Given the description of an element on the screen output the (x, y) to click on. 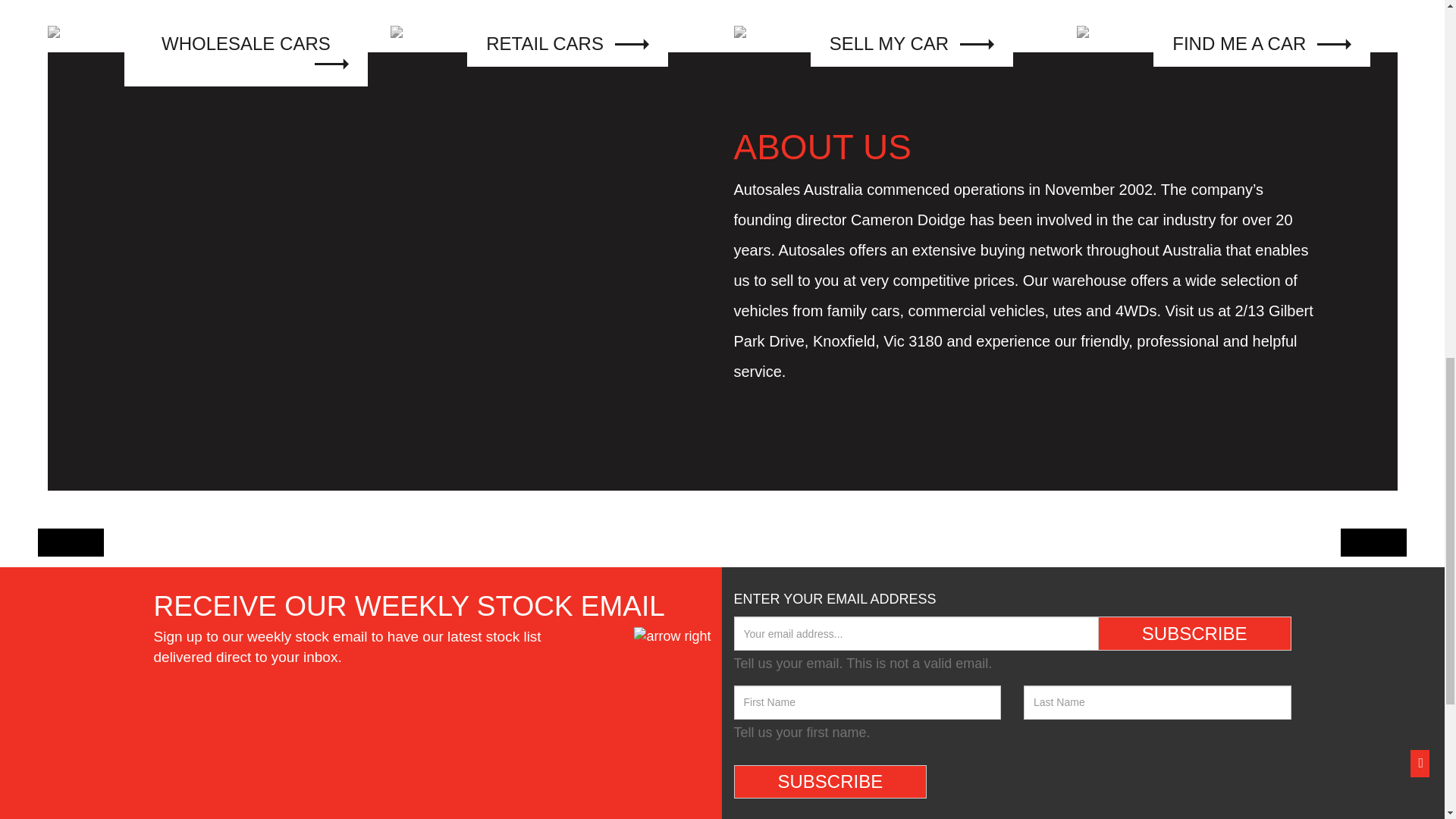
SUBSCRIBE (1194, 633)
RETAIL CARS (550, 35)
WHOLESALE CARS (207, 35)
FIND ME A CAR (1237, 35)
SUBSCRIBE (830, 781)
SELL MY CAR (893, 35)
